Given the description of an element on the screen output the (x, y) to click on. 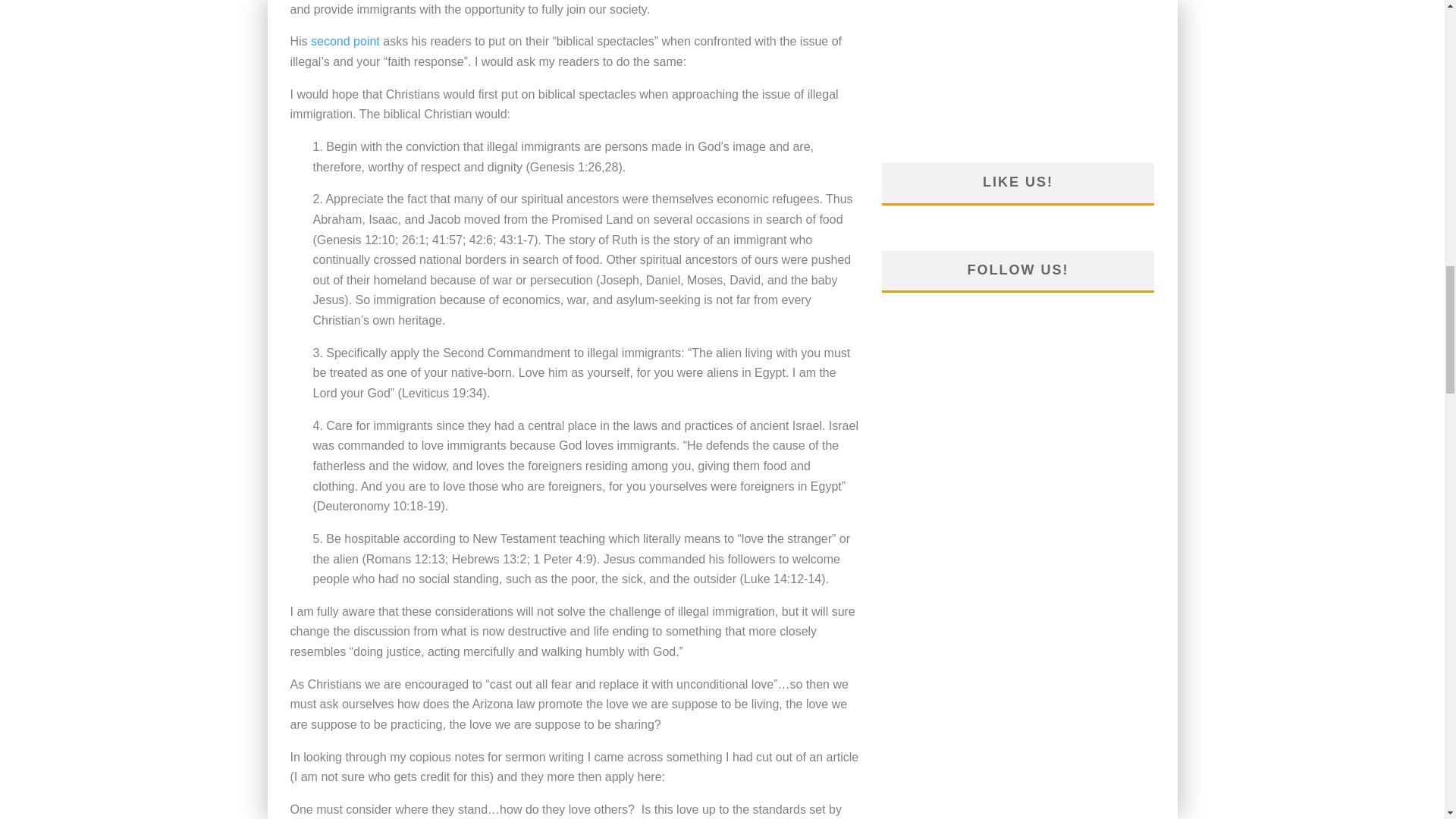
Rev. Richard Nathan (345, 41)
